Given the description of an element on the screen output the (x, y) to click on. 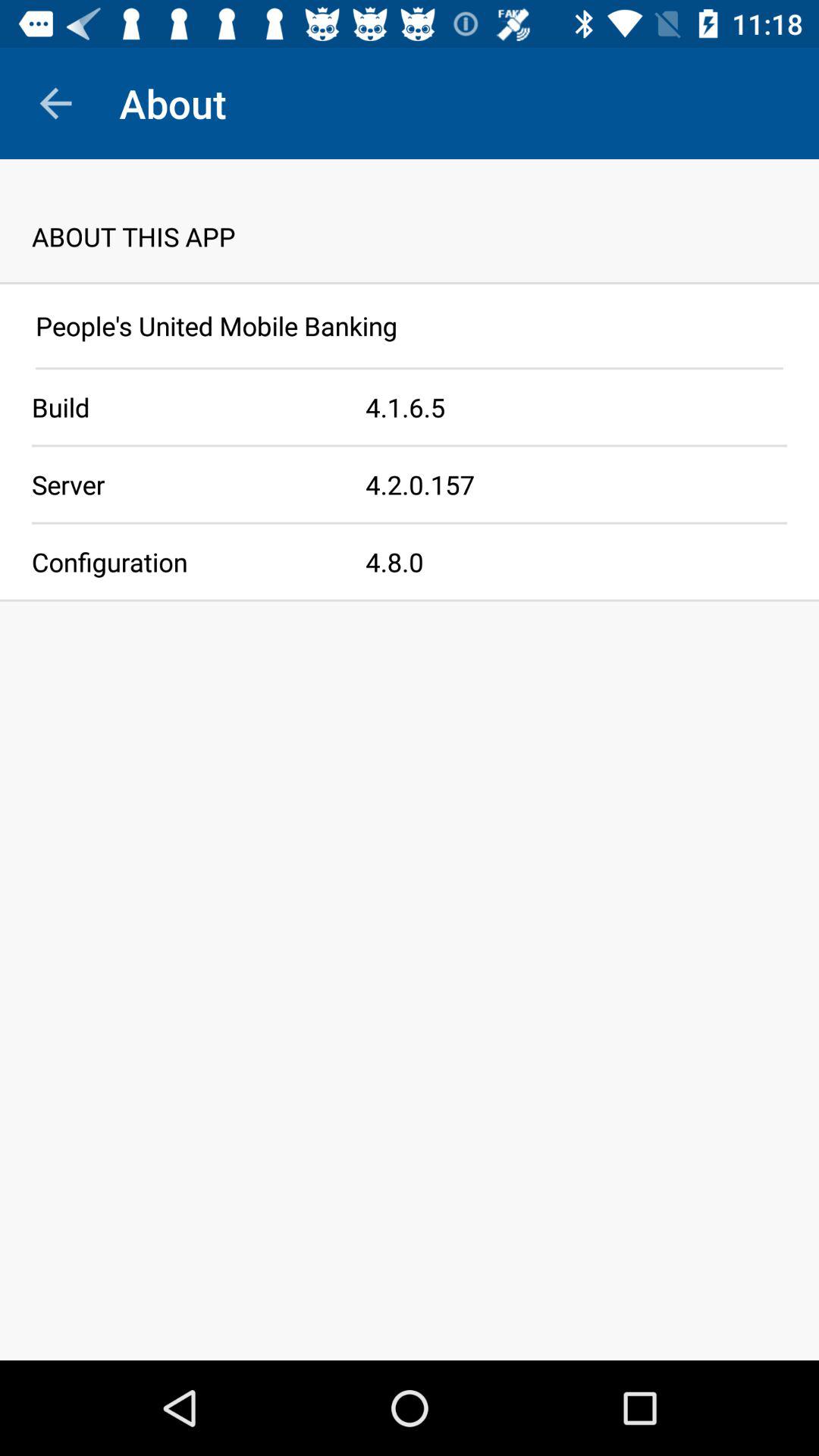
select icon above about this app item (55, 103)
